Given the description of an element on the screen output the (x, y) to click on. 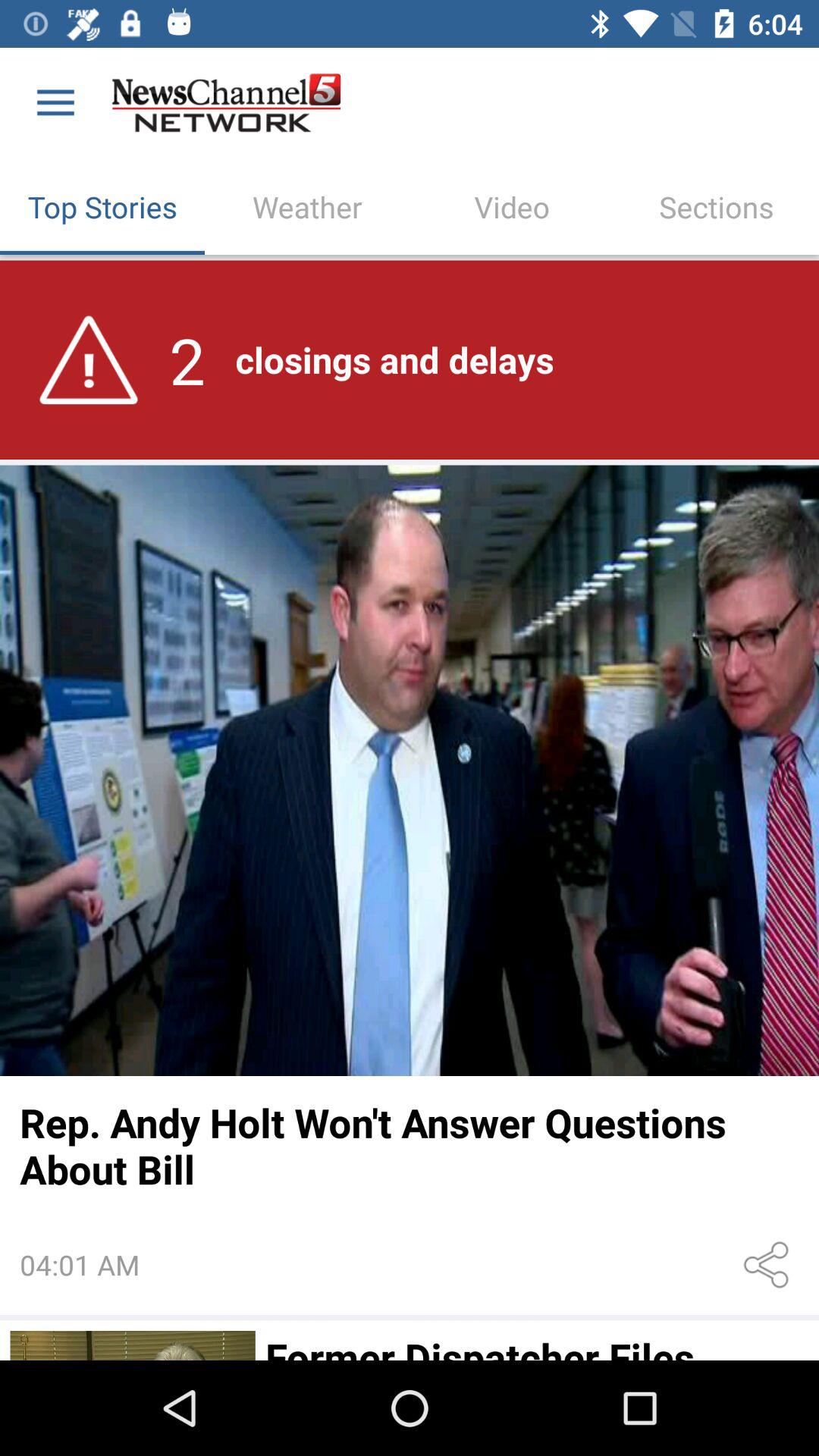
turn off icon to the right of the 04:01 am icon (769, 1265)
